Given the description of an element on the screen output the (x, y) to click on. 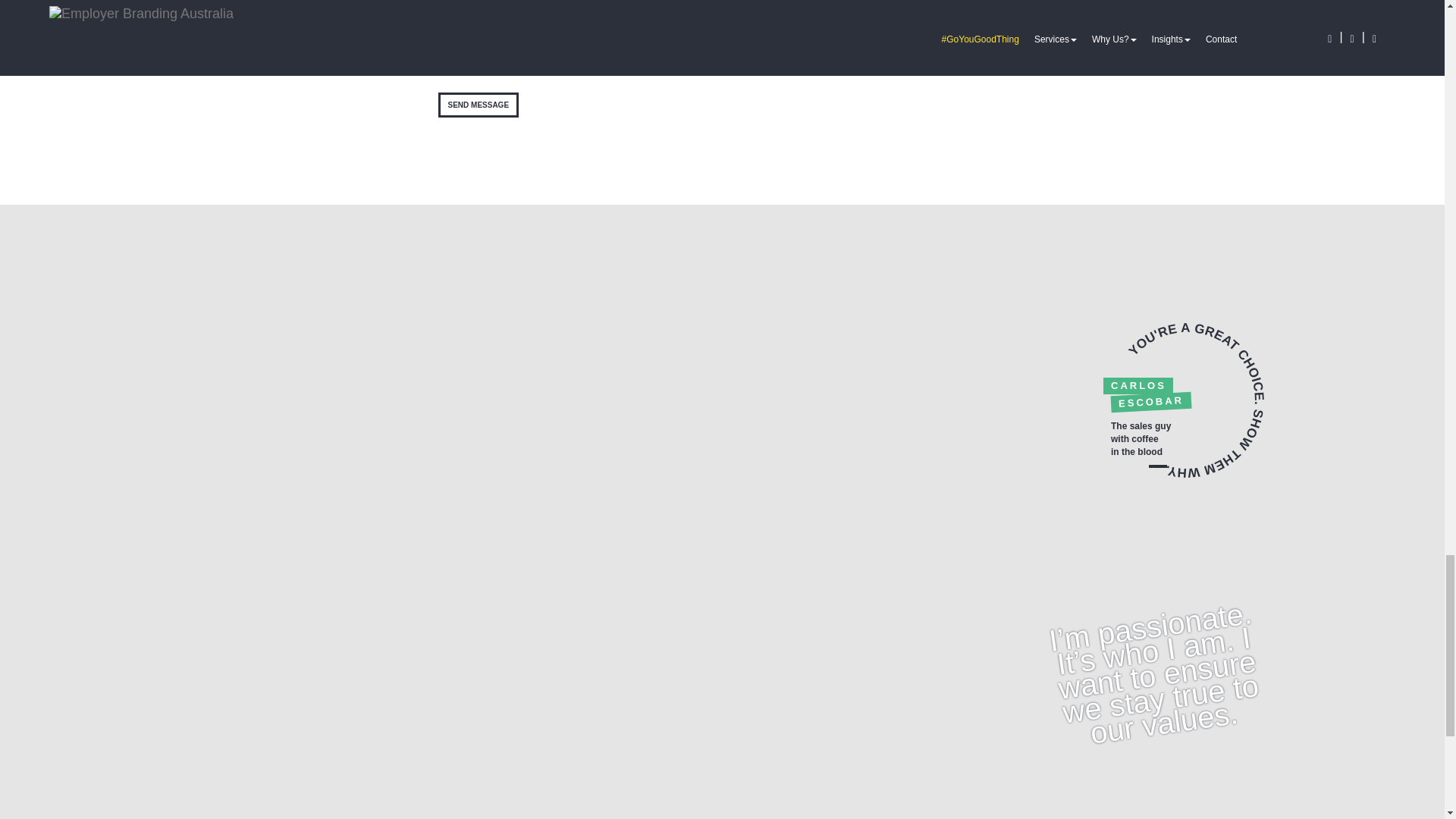
true (450, 29)
Send message (478, 104)
Send message (478, 104)
